Given the description of an element on the screen output the (x, y) to click on. 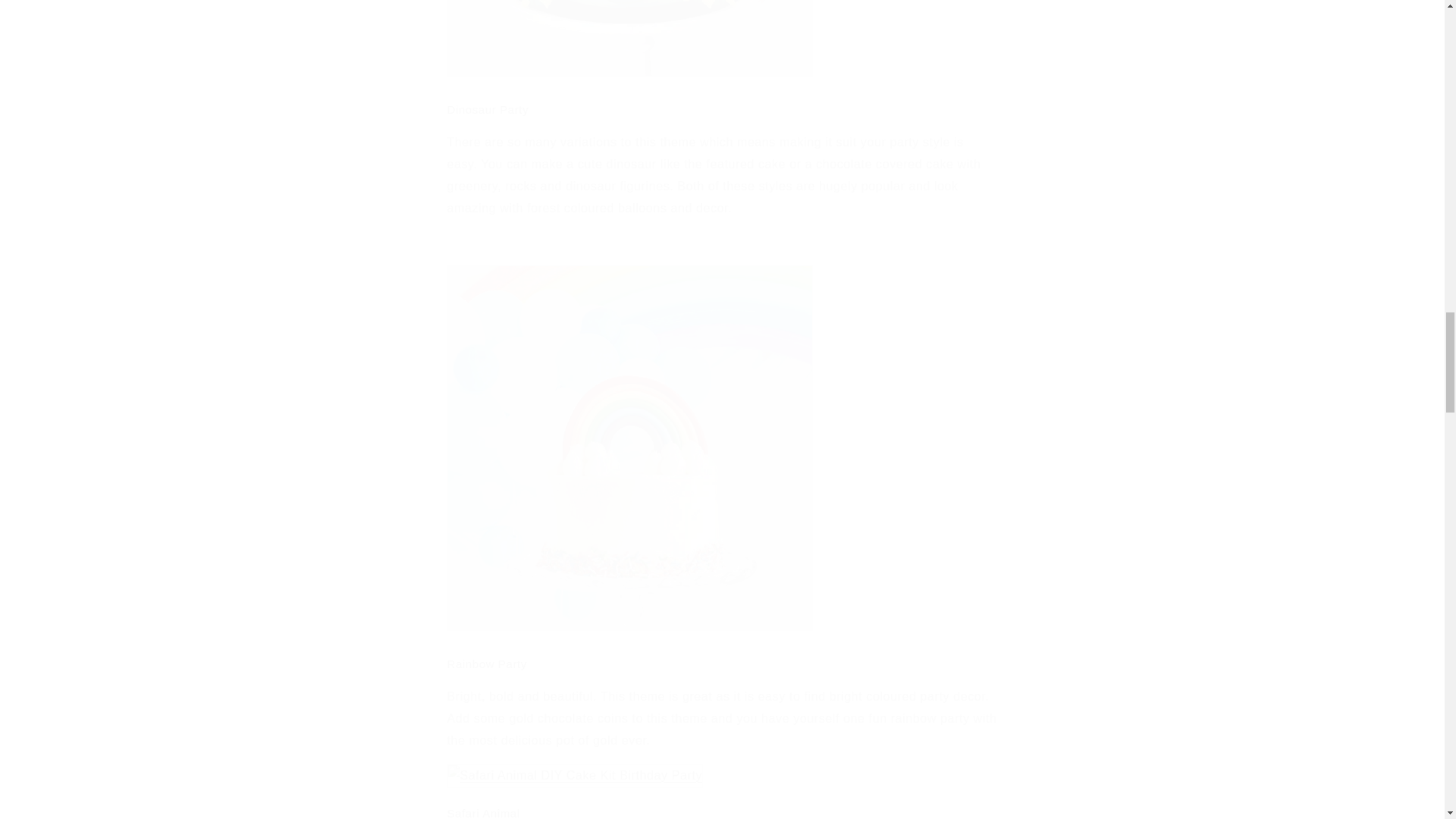
Rainbow DIY Cake Kit Birthday Party (629, 629)
Dinosaur DIY Cake Kit (629, 74)
Safari Animal DIY Cake Kit Birthday Party (574, 775)
